Given the description of an element on the screen output the (x, y) to click on. 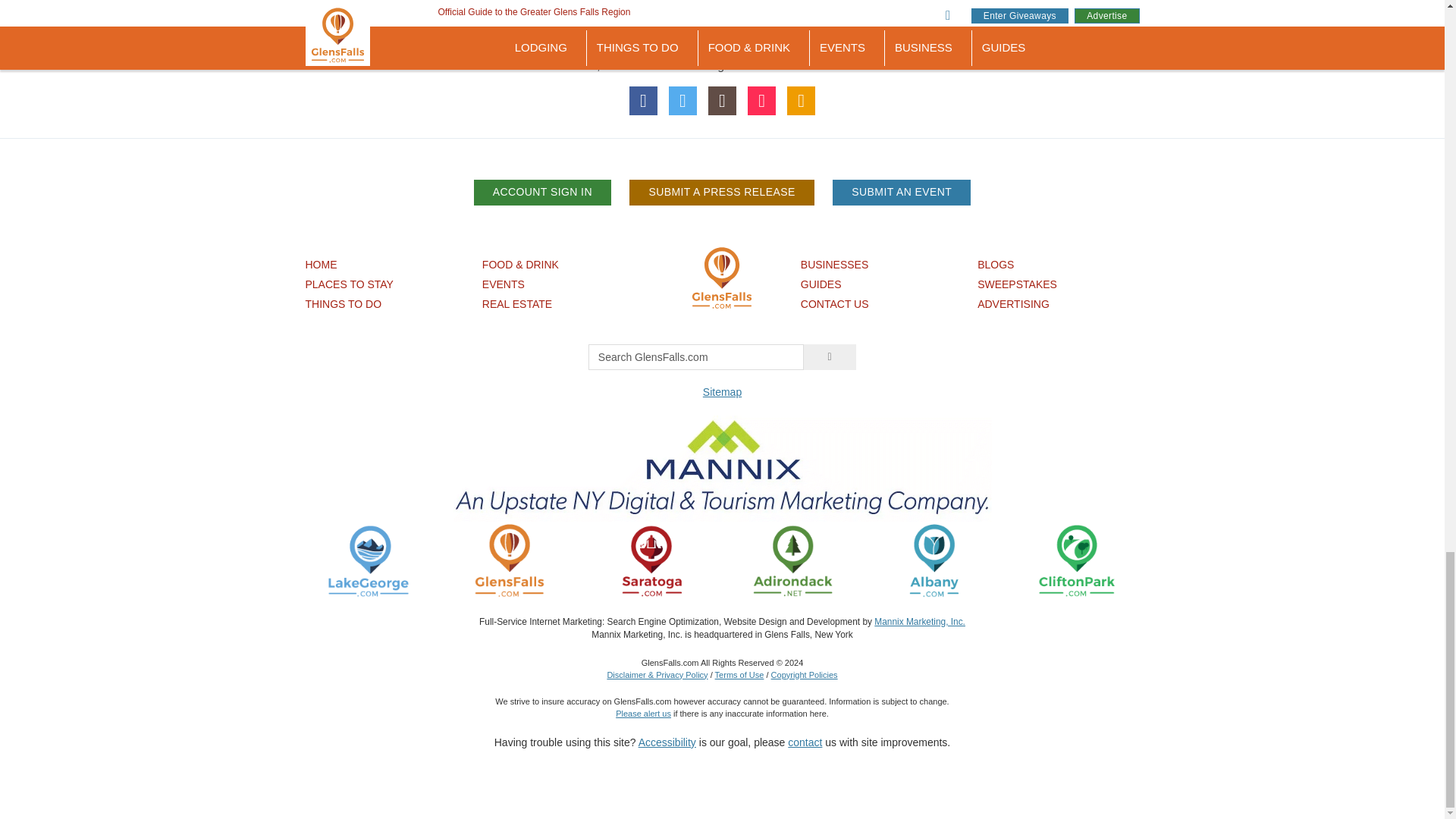
My Planner (801, 100)
Facebook (643, 100)
Instagram (721, 100)
TikTok (762, 100)
Opens in a new window (368, 559)
Opens in a new window (651, 559)
Twitter (682, 100)
Opens in a new window (1075, 559)
Opens in a new window (792, 559)
Opens in a new window (933, 559)
